Given the description of an element on the screen output the (x, y) to click on. 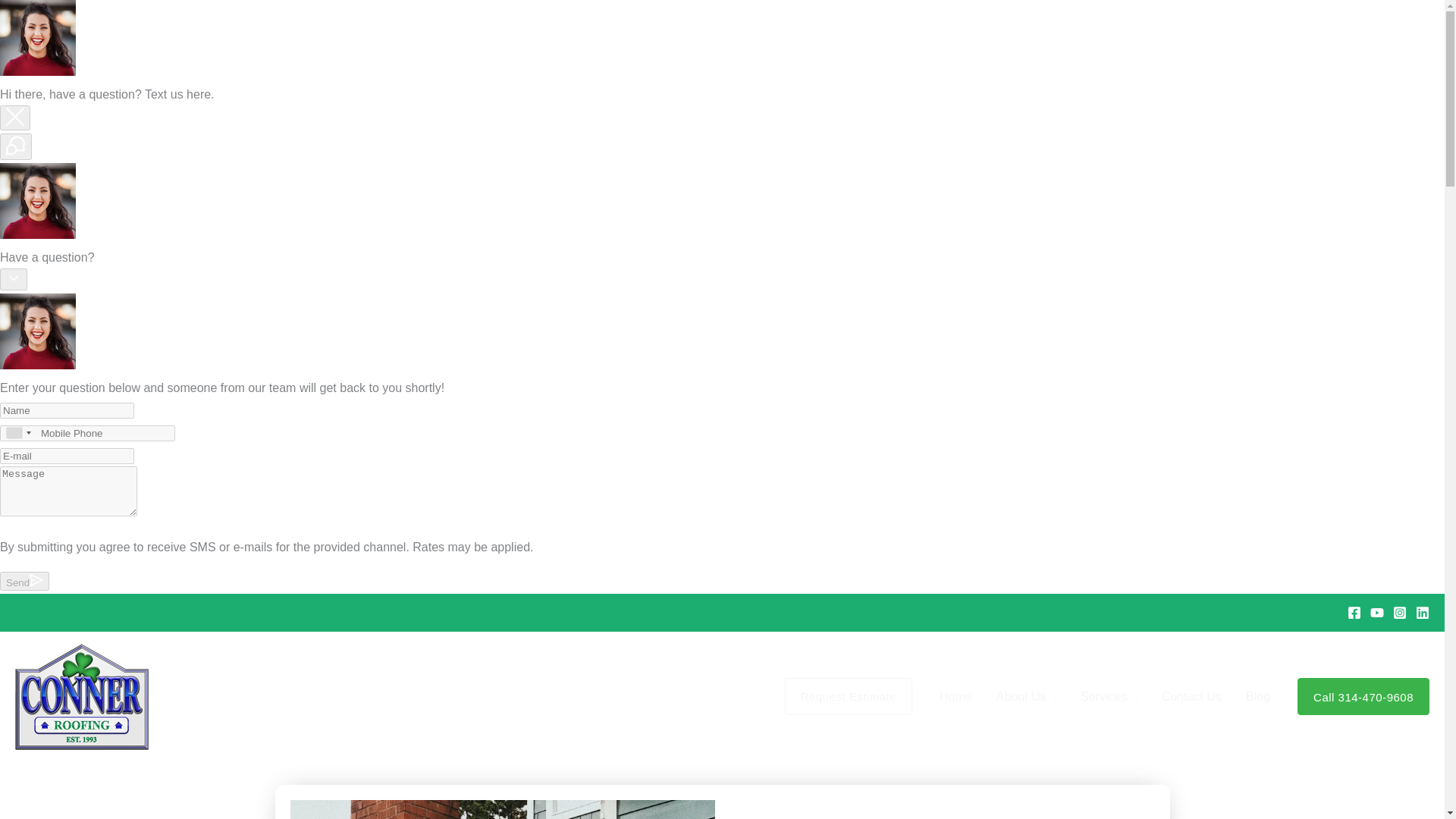
About Us (1026, 696)
Services (1109, 696)
Request Estimate (848, 696)
Call 314-470-9608 (1363, 696)
Contact Us (1191, 696)
Home (955, 696)
Blog (1257, 696)
